Given the description of an element on the screen output the (x, y) to click on. 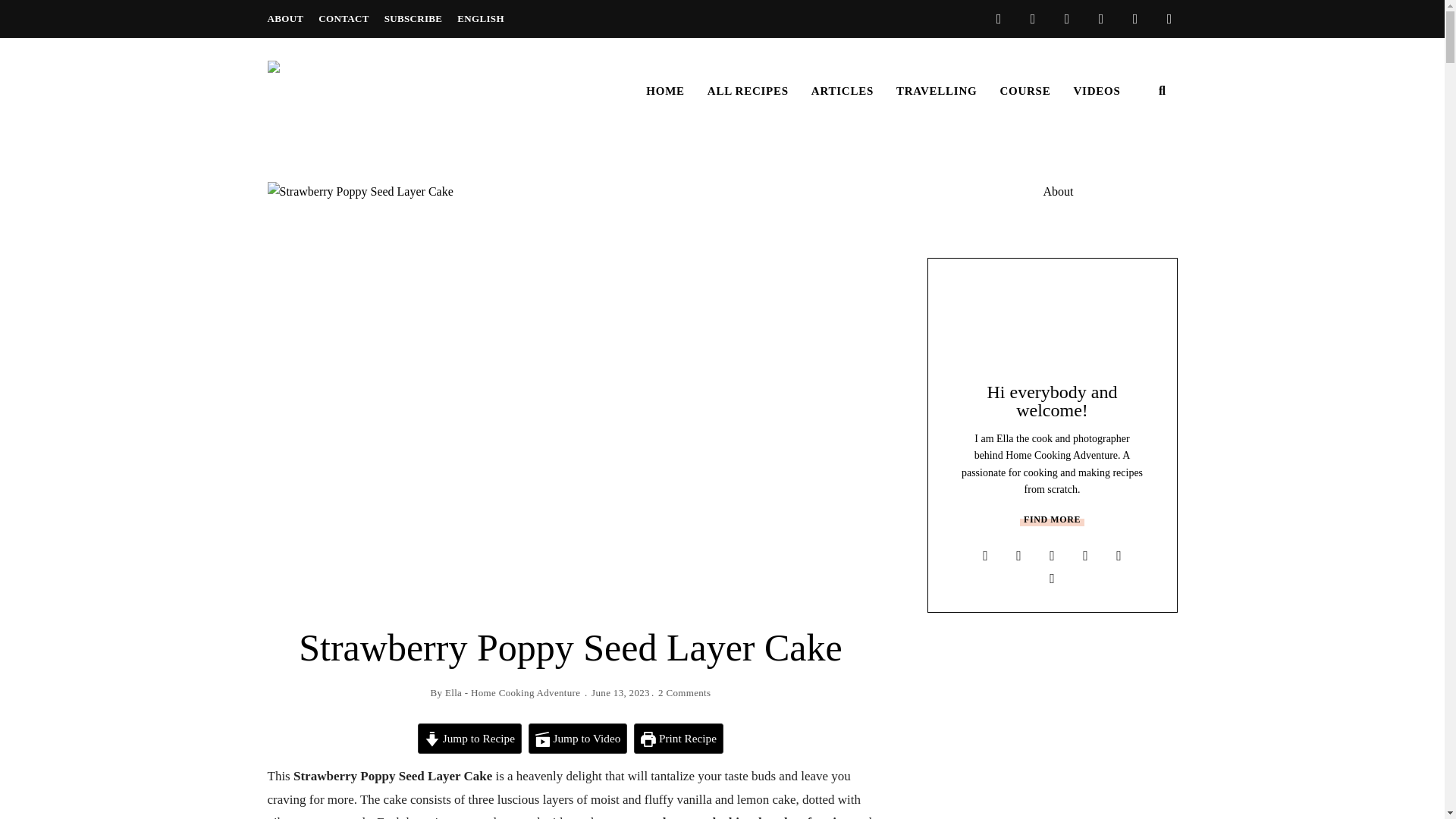
YouTube (997, 18)
TikTok (1134, 18)
Jump to Video (577, 738)
COURSE (1024, 90)
TRAVELLING (936, 90)
HOME COOKING ADVENTURE (365, 169)
Privacy Policy (1169, 18)
ENGLISH (480, 18)
SUBSCRIBE (413, 18)
2 Comments (684, 692)
